Given the description of an element on the screen output the (x, y) to click on. 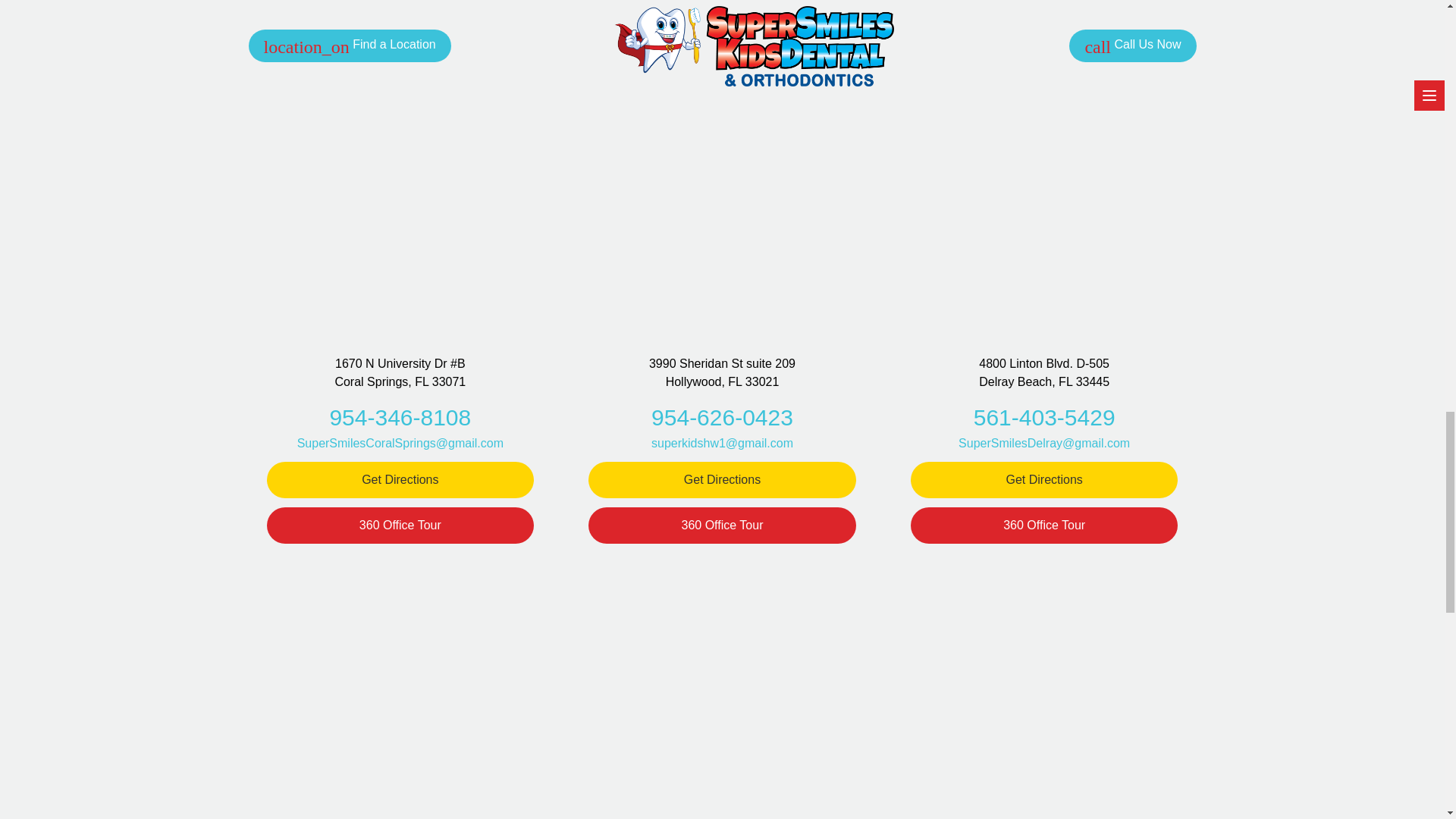
Get Directions (400, 479)
Get Directions (722, 479)
954-626-0423 (721, 416)
360 Office Tour (400, 524)
954-346-8108 (399, 416)
